Given the description of an element on the screen output the (x, y) to click on. 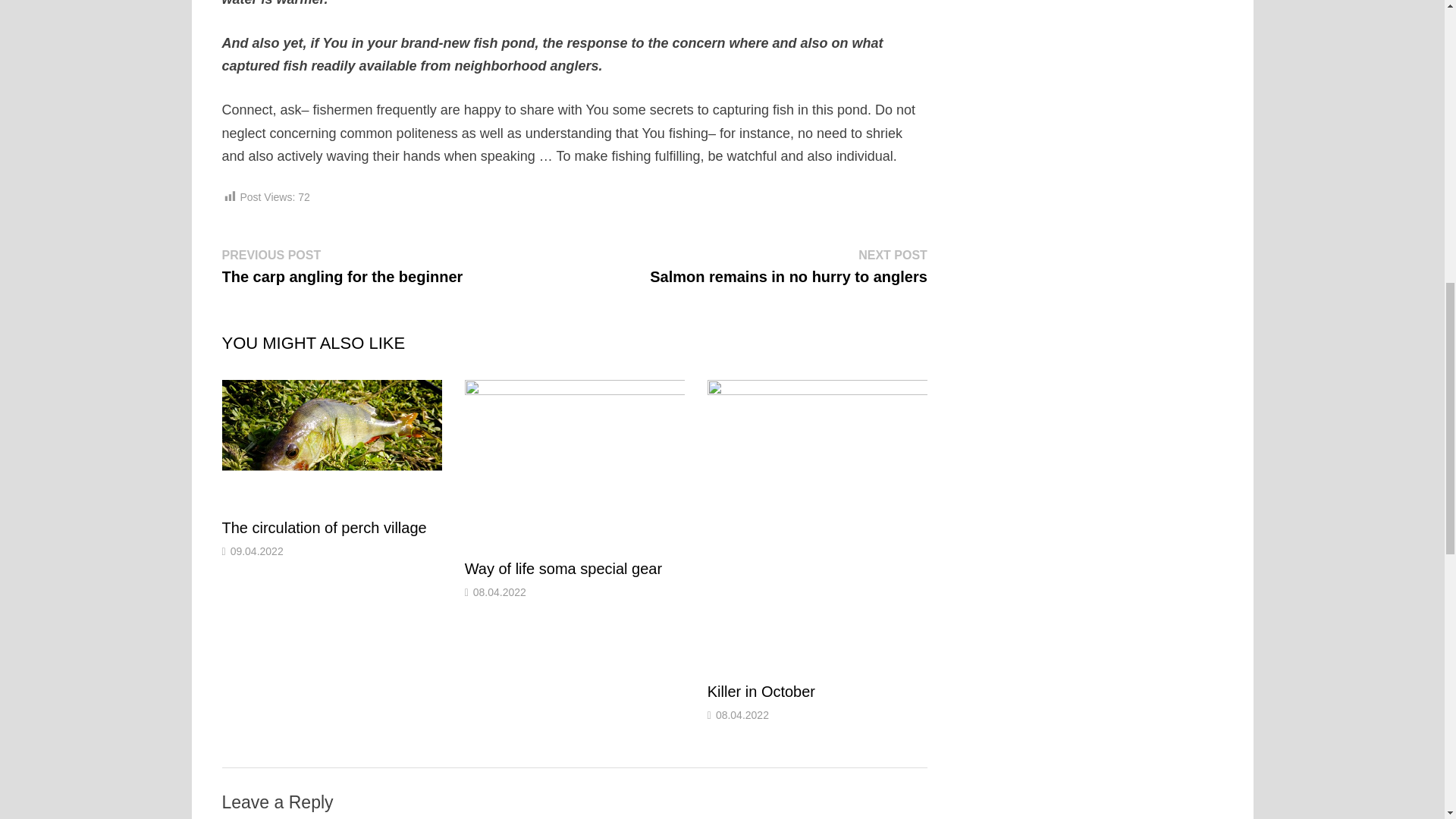
The circulation of perch village (323, 527)
09.04.2022 (256, 551)
08.04.2022 (499, 592)
Killer in October (788, 266)
Way of life soma special gear (761, 691)
08.04.2022 (563, 568)
Killer in October (742, 715)
The circulation of perch village (761, 691)
